Given the description of an element on the screen output the (x, y) to click on. 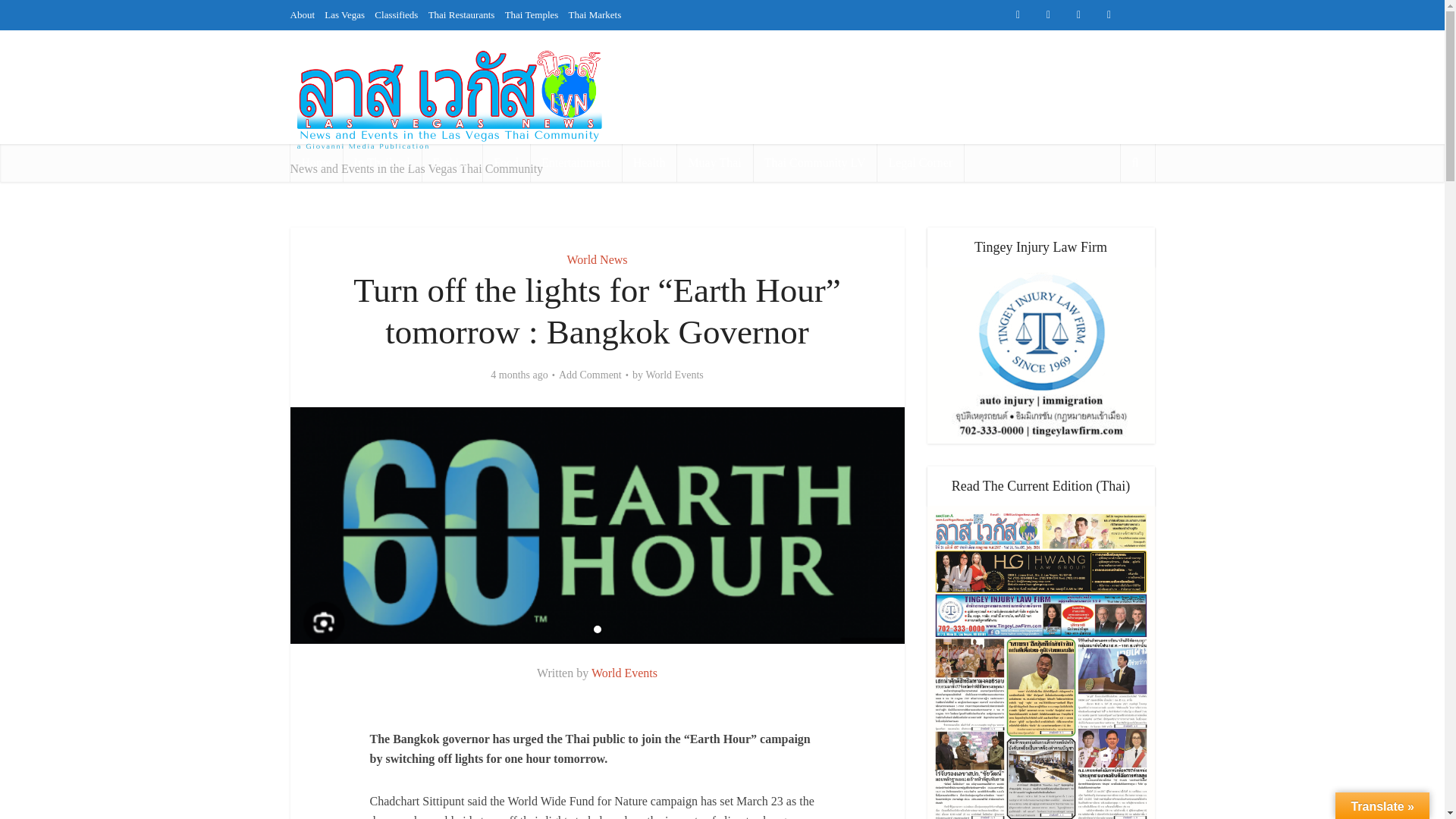
About (301, 14)
Thai Community LV (814, 162)
Muay Thai (714, 162)
Thai Temples (532, 14)
Thai Markets (595, 14)
Thai Restaurants (755, 44)
Health (649, 162)
Classifieds (689, 44)
Thai Temples (826, 44)
Fashion (452, 162)
Home (315, 162)
In Thailand (382, 162)
Legal Corner (919, 162)
World News (596, 259)
Las Vegas (638, 44)
